Given the description of an element on the screen output the (x, y) to click on. 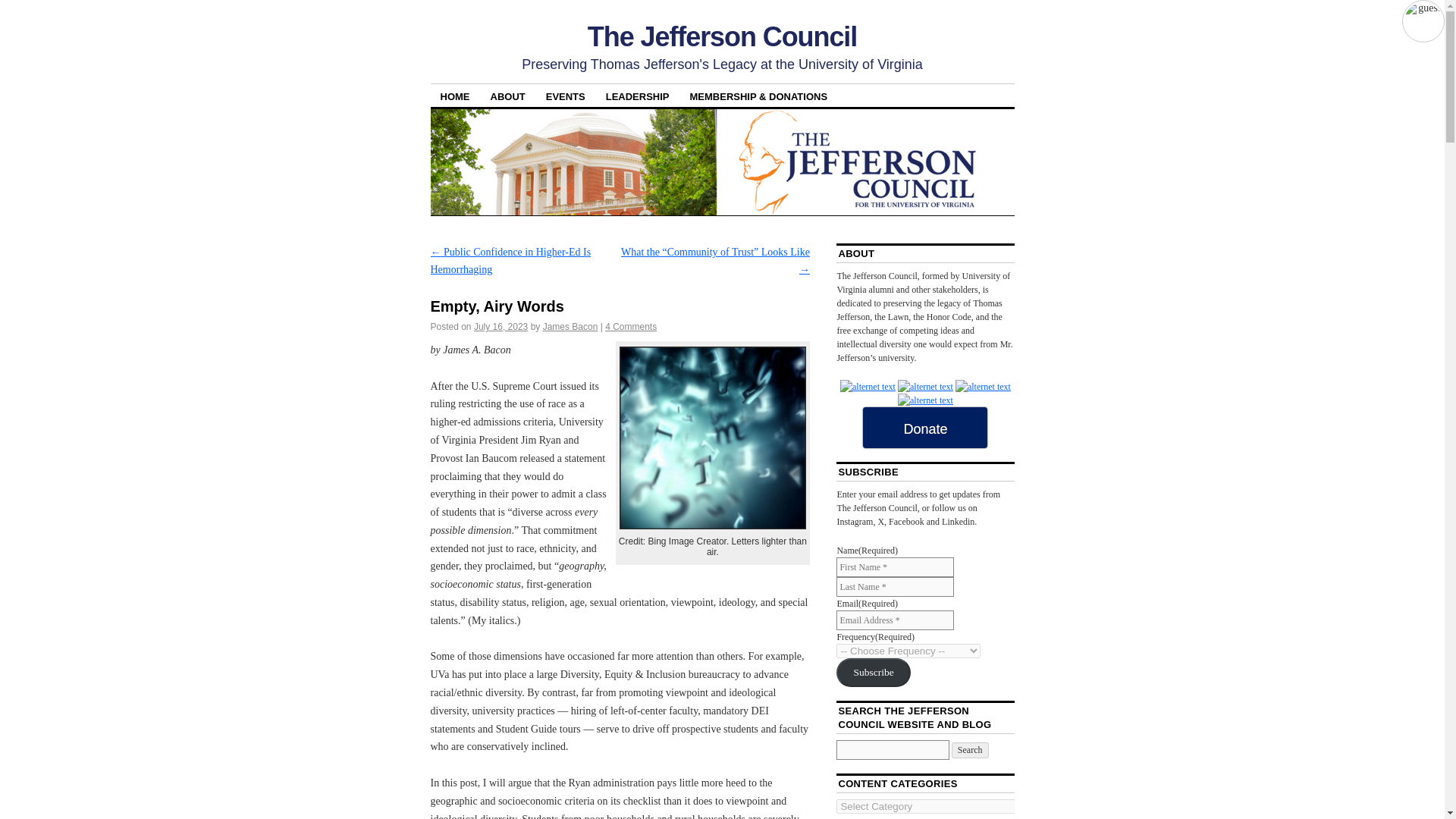
ABOUT (507, 96)
Search (970, 750)
Subscribe (872, 672)
12:03 pm (500, 326)
LEADERSHIP (637, 96)
The Jefferson Council (722, 36)
James Bacon (570, 326)
The Jefferson Council (722, 36)
EVENTS (565, 96)
July 16, 2023 (500, 326)
